Given the description of an element on the screen output the (x, y) to click on. 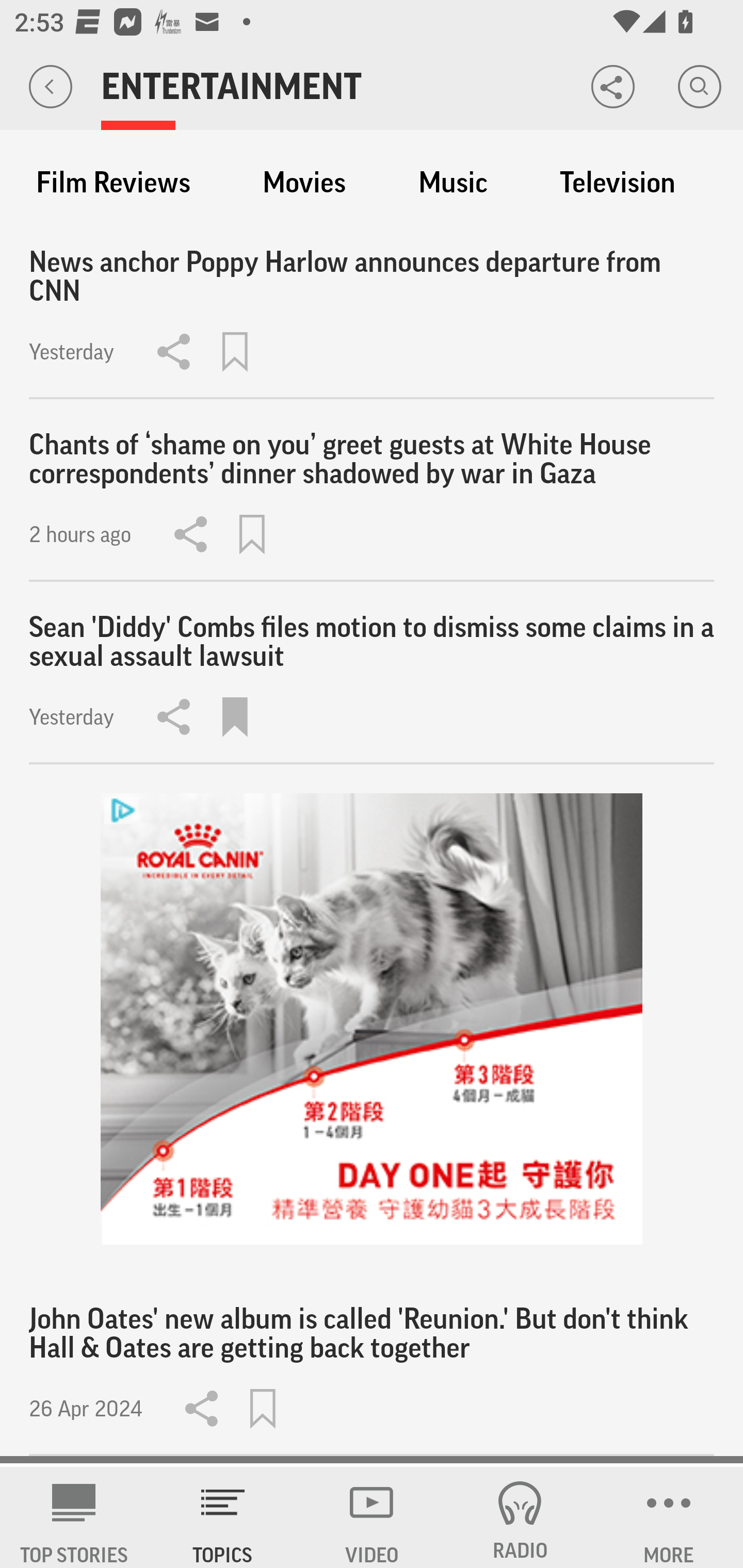
Film Reviews (112, 182)
Movies (304, 182)
Music (452, 182)
Television (617, 182)
ooulh2nc_300x250 (371, 1018)
AP News TOP STORIES (74, 1517)
TOPICS (222, 1517)
VIDEO (371, 1517)
RADIO (519, 1517)
MORE (668, 1517)
